Given the description of an element on the screen output the (x, y) to click on. 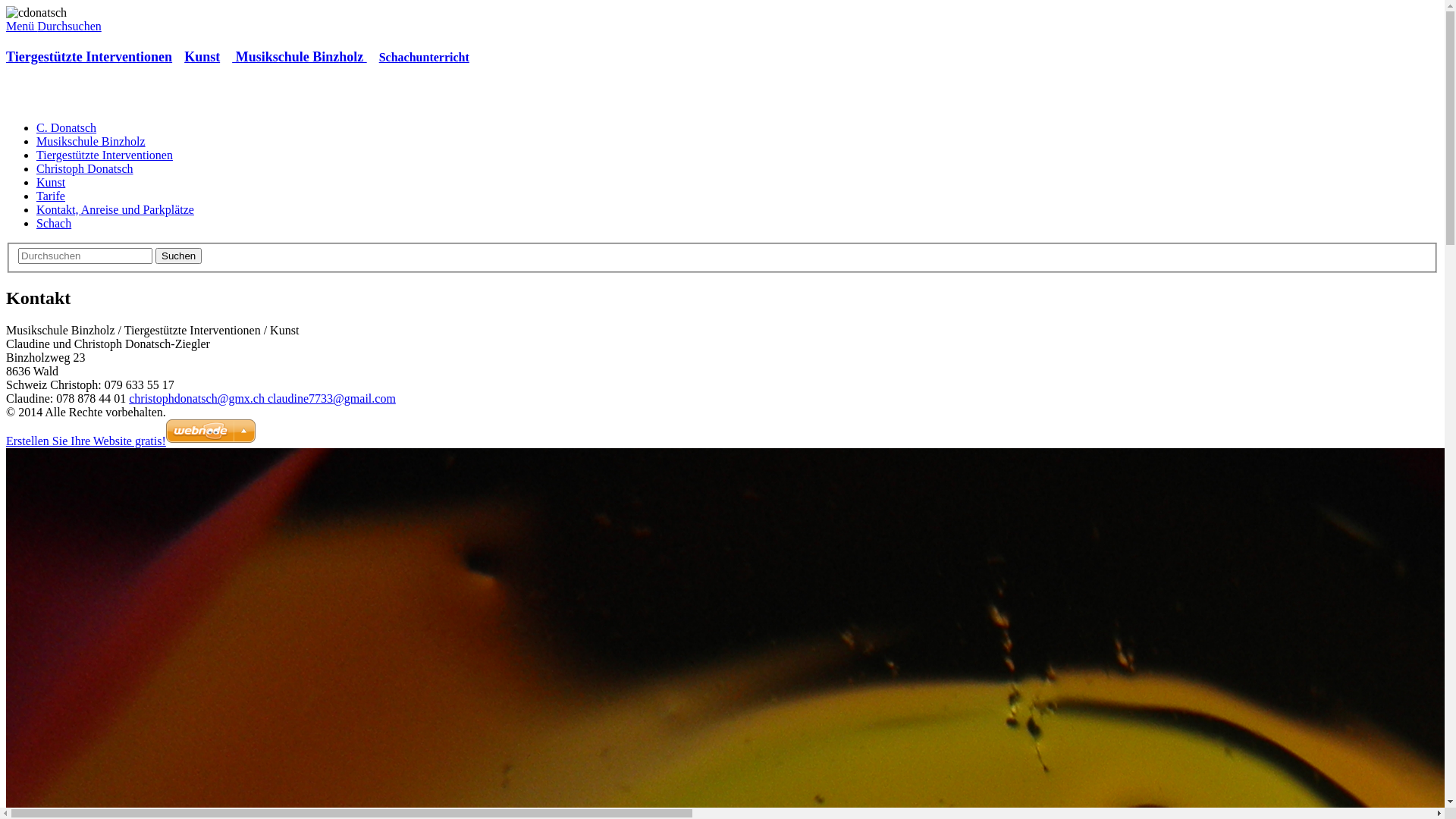
Schachunterricht Element type: text (424, 56)
Durchsuchen Element type: text (68, 25)
christophdonatsch@gmx.ch claudine7733@gmail.com Element type: text (261, 398)
Christoph Donatsch Element type: text (84, 168)
C. Donatsch Element type: text (66, 127)
Kunst Element type: text (50, 181)
Kunst Element type: text (201, 56)
 Musikschule Binzholz  Element type: text (299, 56)
Tarife Element type: text (50, 195)
Schach Element type: text (53, 222)
Erstellen Sie Ihre Website gratis! Element type: text (86, 440)
Suchen Element type: text (178, 255)
Musikschule Binzholz Element type: text (90, 140)
